Given the description of an element on the screen output the (x, y) to click on. 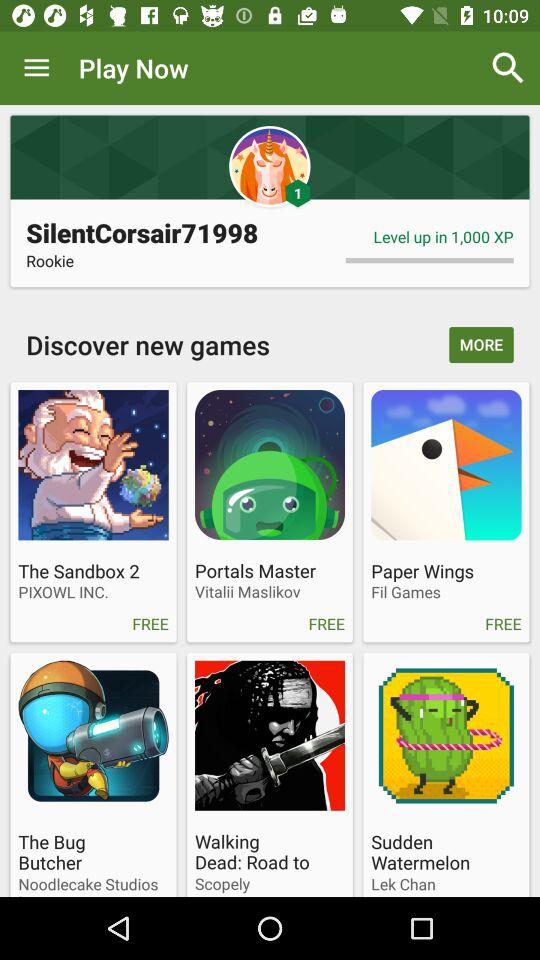
turn on the icon to the left of play now app (36, 68)
